Given the description of an element on the screen output the (x, y) to click on. 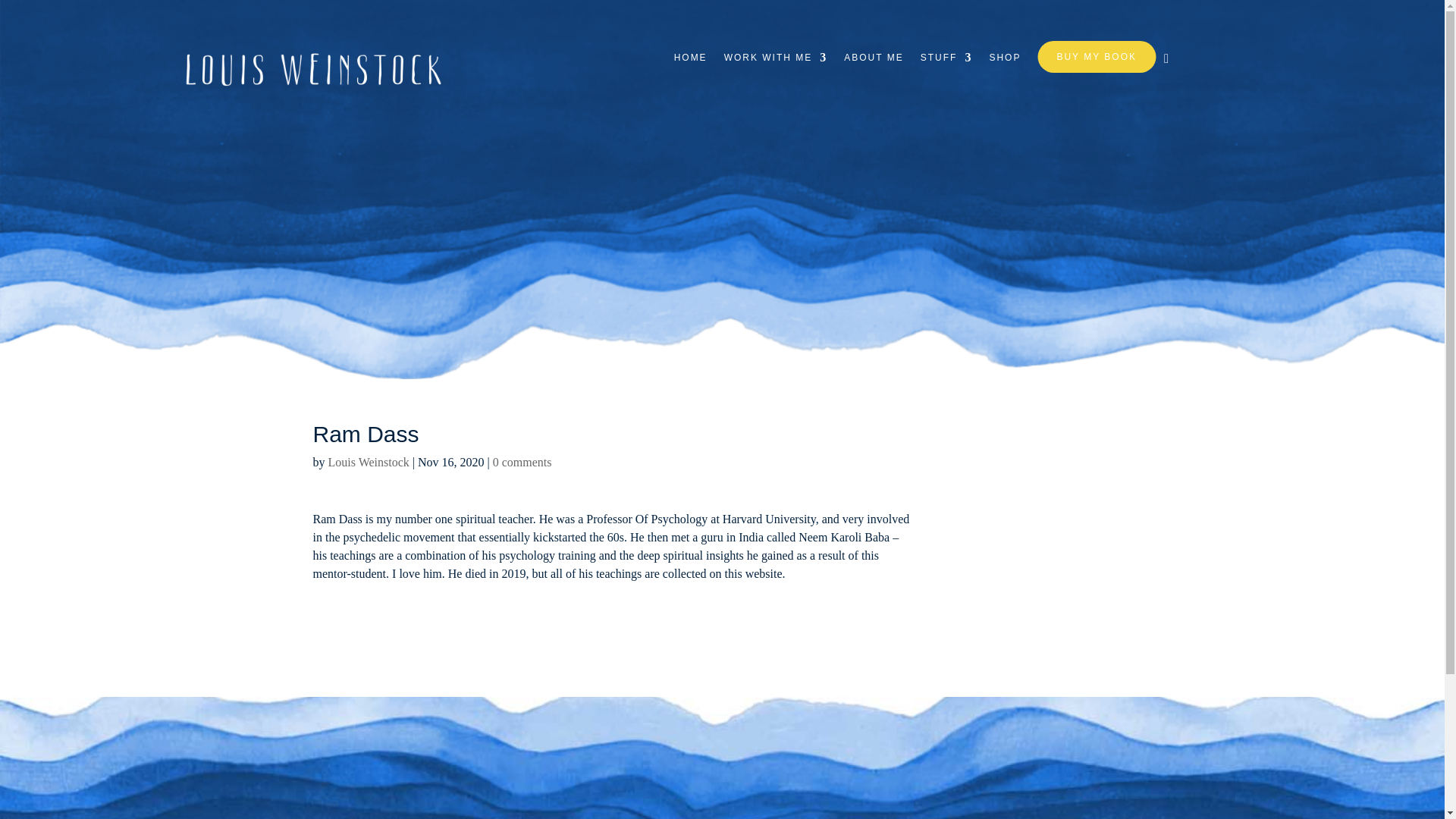
HOME (690, 68)
ABOUT ME (873, 68)
Louis Weinstock (368, 461)
Louis-Logo-white (316, 66)
WORK WITH ME (775, 68)
STUFF (946, 68)
BUY MY BOOK (1096, 56)
0 comments (522, 461)
SHOP (1004, 68)
Posts by Louis Weinstock (368, 461)
